Given the description of an element on the screen output the (x, y) to click on. 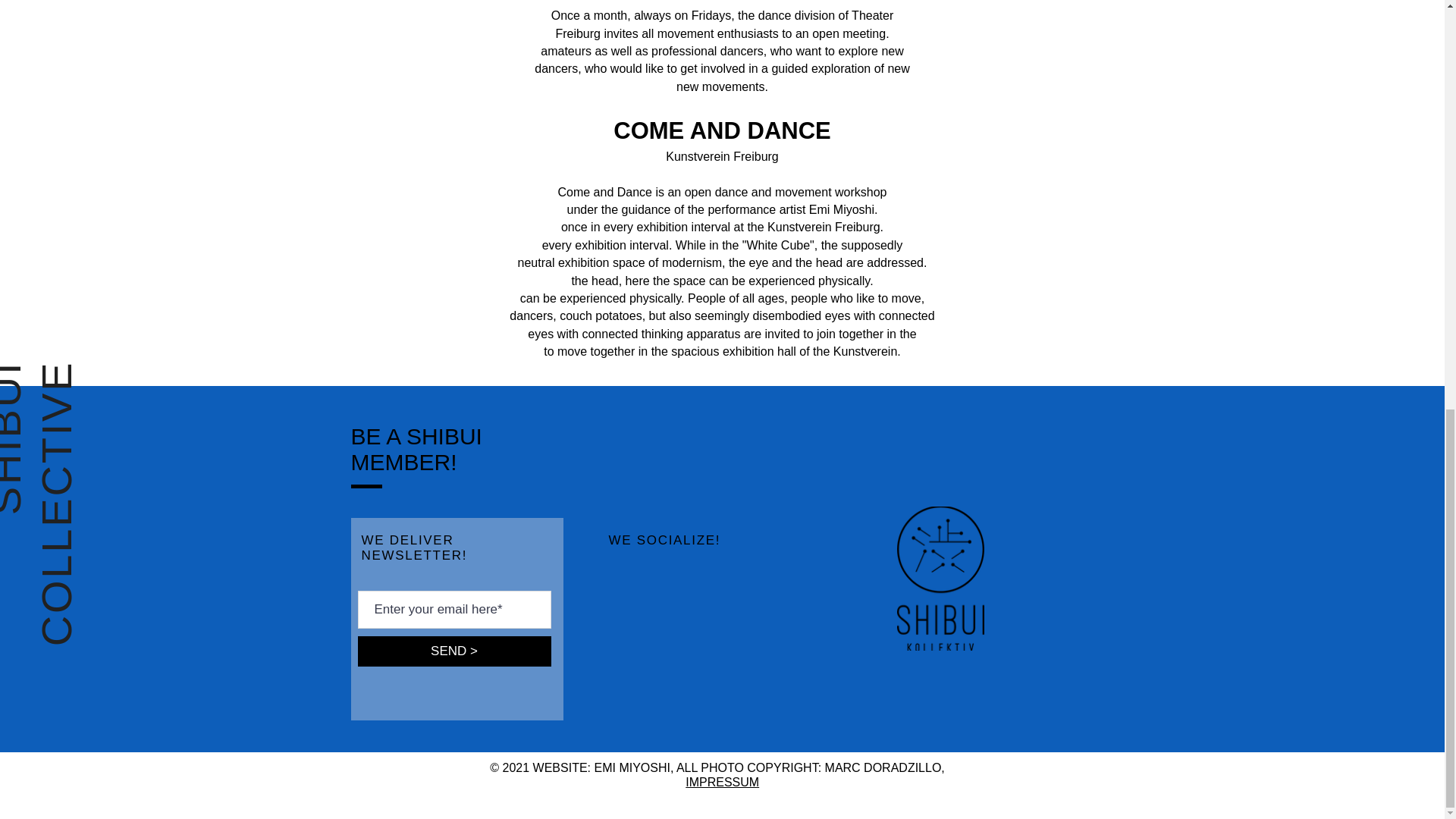
IMPRESSUM (721, 781)
